Given the description of an element on the screen output the (x, y) to click on. 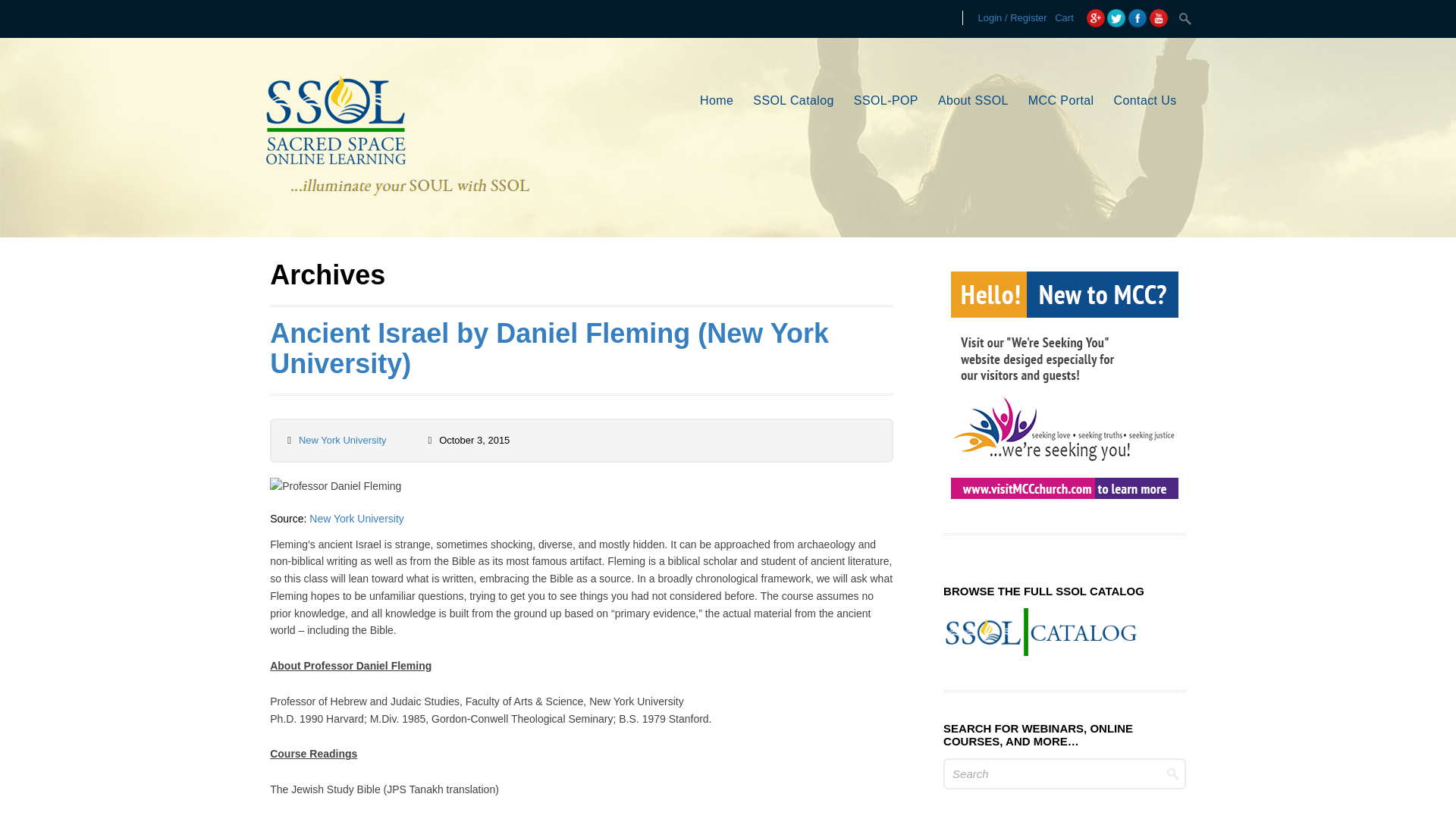
Home (716, 101)
You Tube (1158, 18)
MCC Portal (1060, 101)
Facebook (1137, 18)
Send (621, 464)
Posts by New York University (342, 439)
About SSOL (973, 101)
Twitter (1115, 18)
Cart (1064, 17)
SSOL-POP (885, 101)
Search (1185, 18)
SSOL Catalog (793, 101)
Search (1064, 773)
Sacred Space Online Learning (396, 213)
Contact Us (1144, 101)
